Given the description of an element on the screen output the (x, y) to click on. 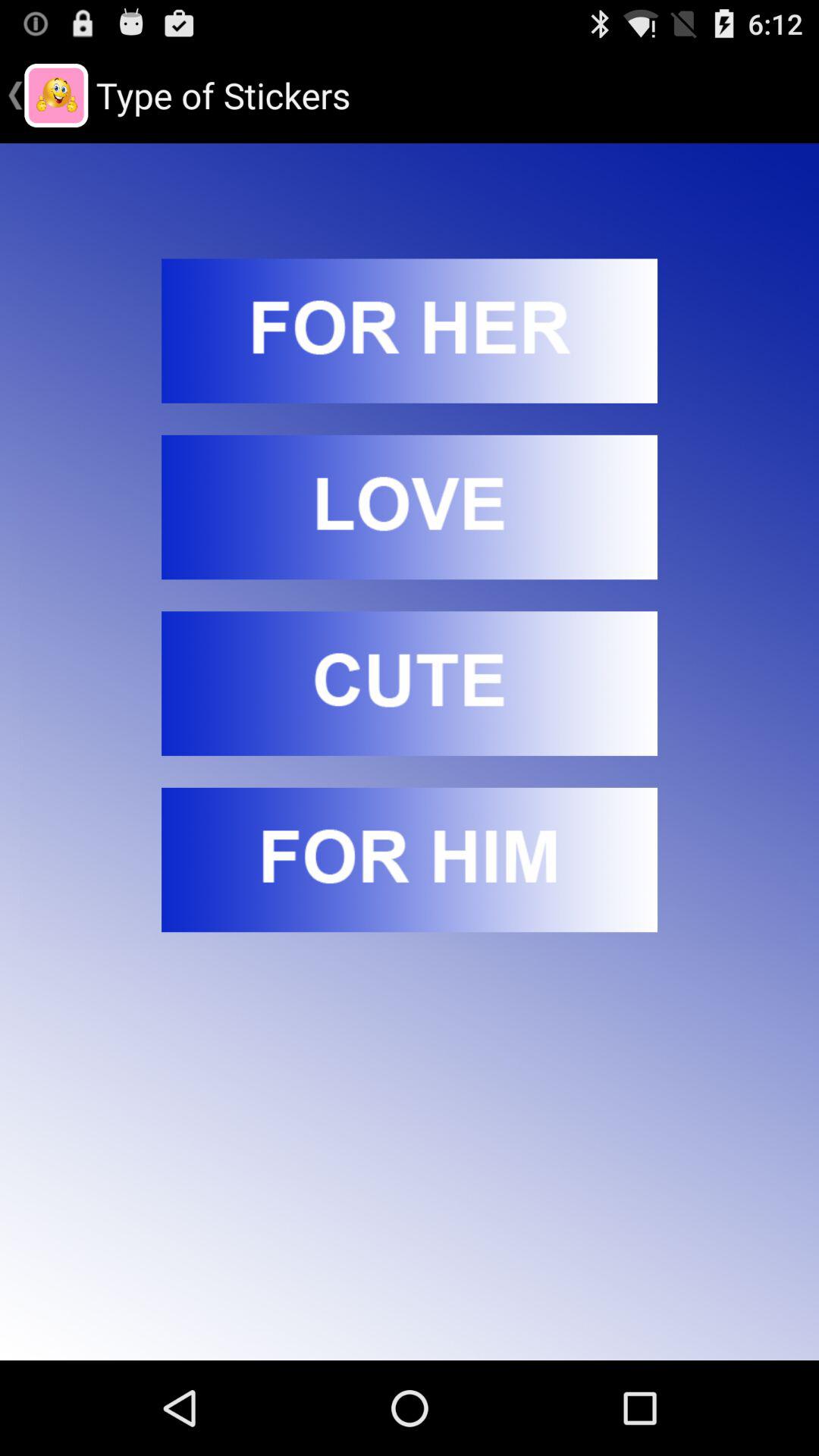
select cute sticker (409, 683)
